Given the description of an element on the screen output the (x, y) to click on. 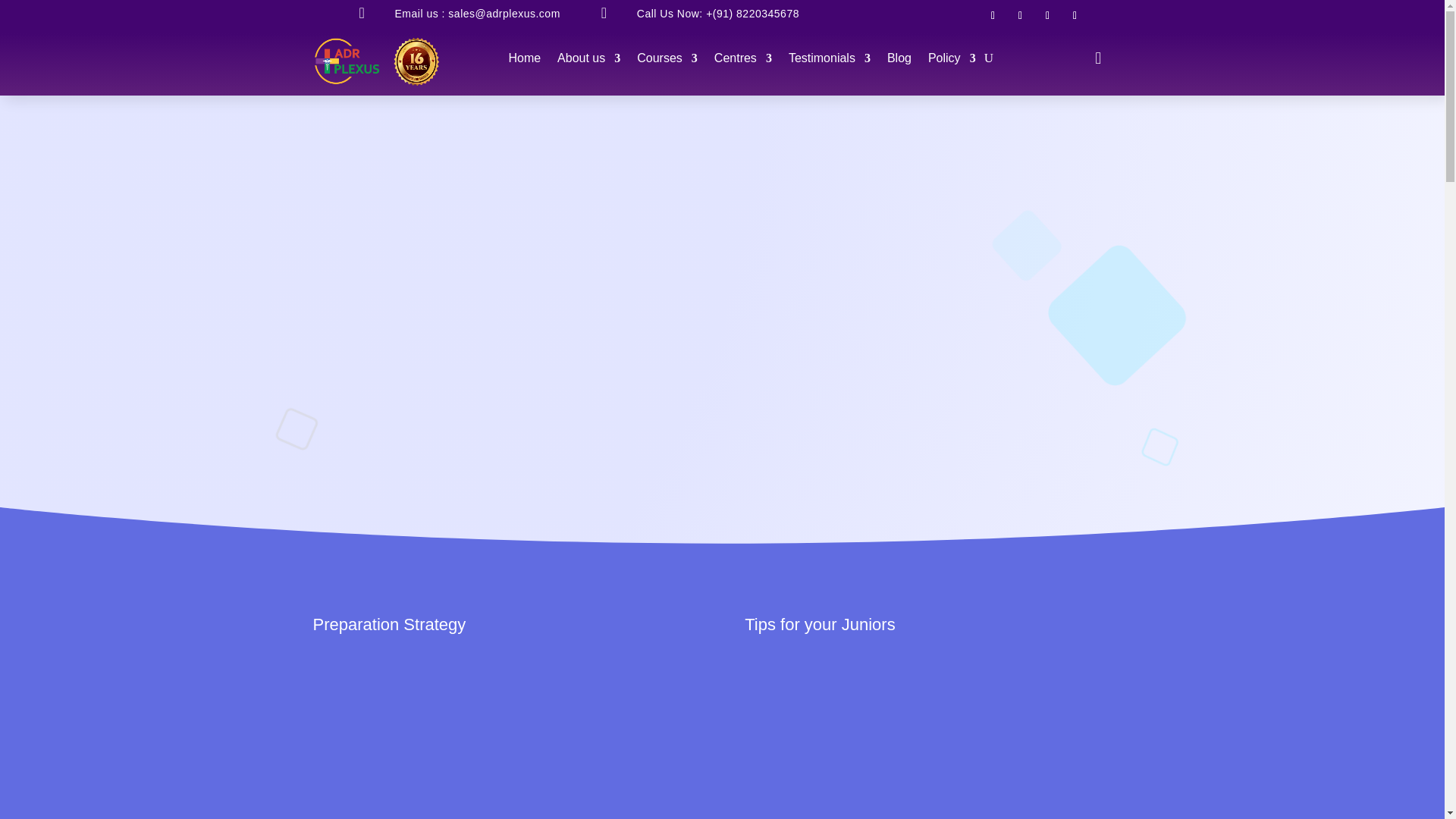
Follow on Youtube (1074, 15)
Courses (667, 61)
Home (524, 61)
adr-plexus-logo (376, 62)
Follow on X (1047, 15)
Centres (742, 61)
About us (588, 61)
Follow on Instagram (1019, 15)
Follow on Facebook (992, 15)
Testimonials (829, 61)
